Given the description of an element on the screen output the (x, y) to click on. 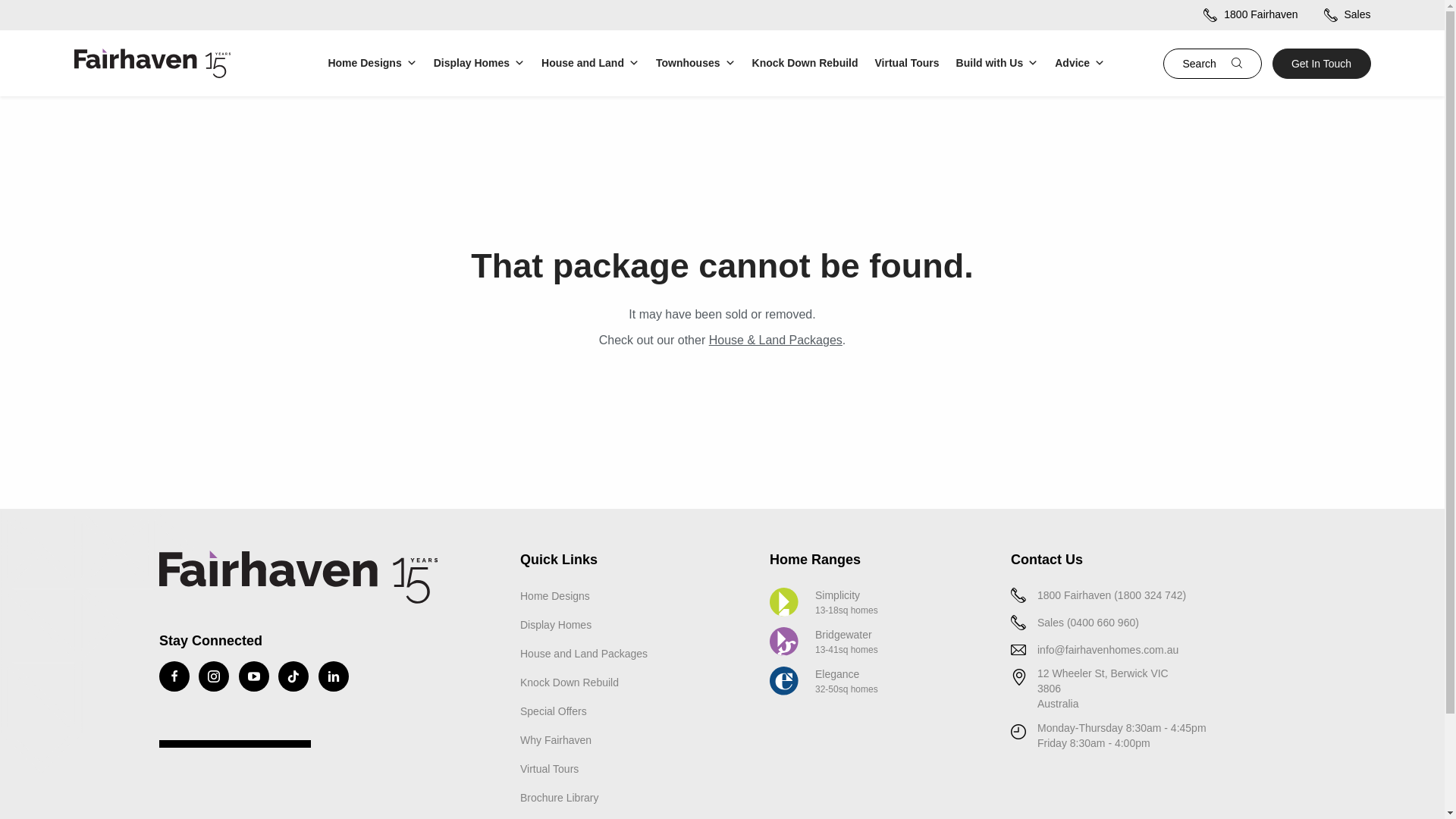
House and Land Packages Element type: text (583, 654)
Get In Touch Element type: text (1321, 63)
Why Fairhaven Element type: text (555, 740)
Display Homes Element type: text (479, 63)
Build with Us Element type: text (998, 63)
Knock Down Rebuild Element type: text (805, 63)
Townhouses Element type: text (696, 63)
Display Homes Element type: text (555, 625)
Special Offers Element type: text (553, 711)
Virtual Tours Element type: text (907, 63)
1800 Fairhaven (1800 324 742) Element type: text (1111, 595)
Sales Element type: text (1347, 14)
Bridgewater
13-41sq homes Element type: text (823, 642)
Search Element type: text (1112, 63)
1800 Fairhaven Element type: text (1250, 14)
House and Land Element type: text (590, 63)
Search Element type: text (1212, 63)
Brochure Library Element type: text (559, 798)
Knock Down Rebuild Element type: text (569, 683)
Home Designs Element type: text (554, 596)
Home Designs Element type: text (372, 63)
Simplicity
13-18sq homes Element type: text (823, 602)
Advice Element type: text (1080, 63)
House & Land Packages Element type: text (775, 339)
Elegance
32-50sq homes Element type: text (823, 681)
info@fairhavenhomes.com.au Element type: text (1107, 650)
Sales (0400 660 960) Element type: text (1088, 623)
Virtual Tours Element type: text (549, 769)
